Given the description of an element on the screen output the (x, y) to click on. 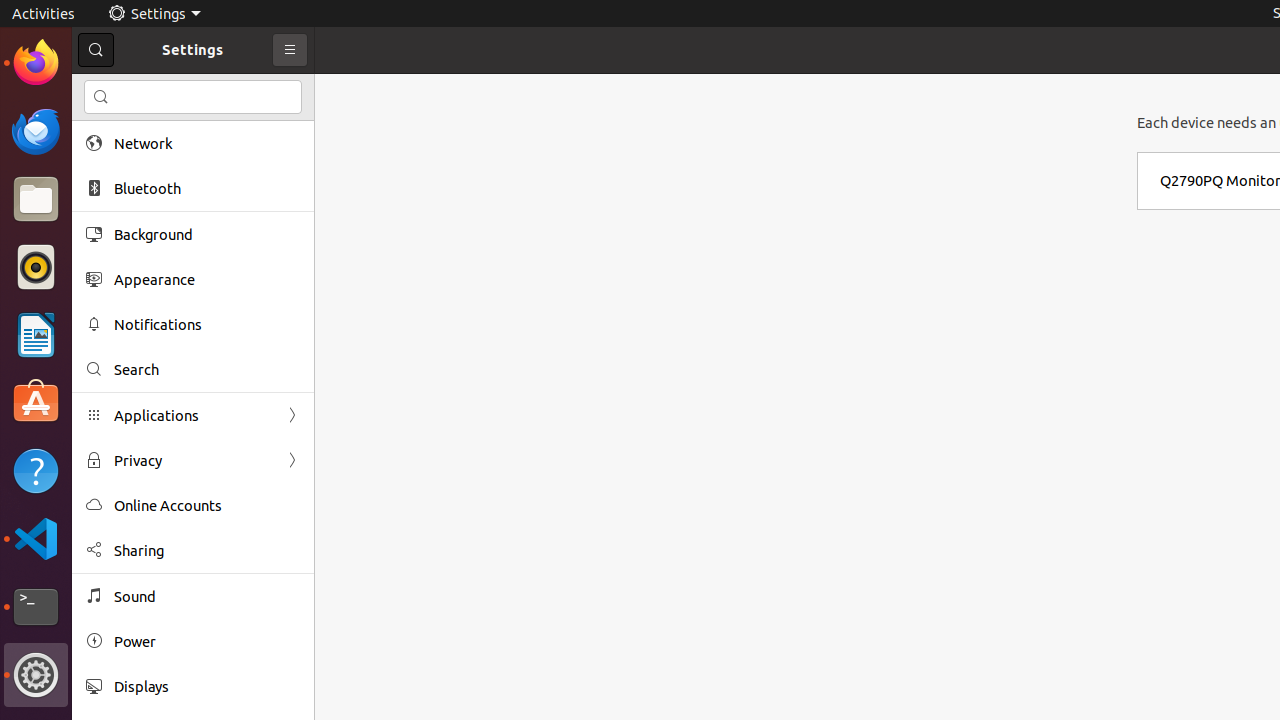
Appearance Element type: label (207, 279)
Search Element type: text (193, 97)
Terminal Element type: push-button (36, 607)
Trash Element type: label (133, 191)
Background Element type: label (207, 234)
